Given the description of an element on the screen output the (x, y) to click on. 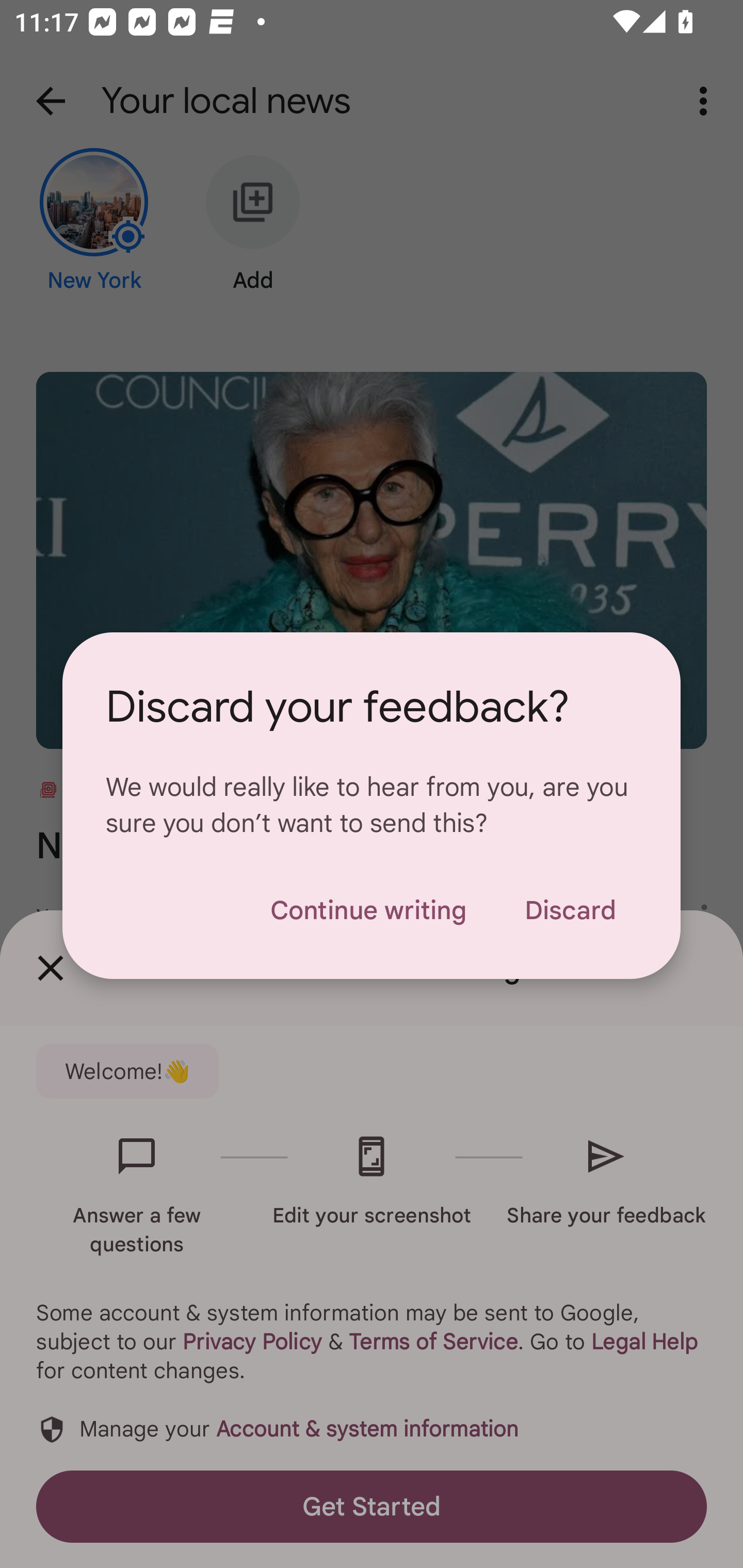
Continue writing (368, 910)
Discard (569, 910)
